Given the description of an element on the screen output the (x, y) to click on. 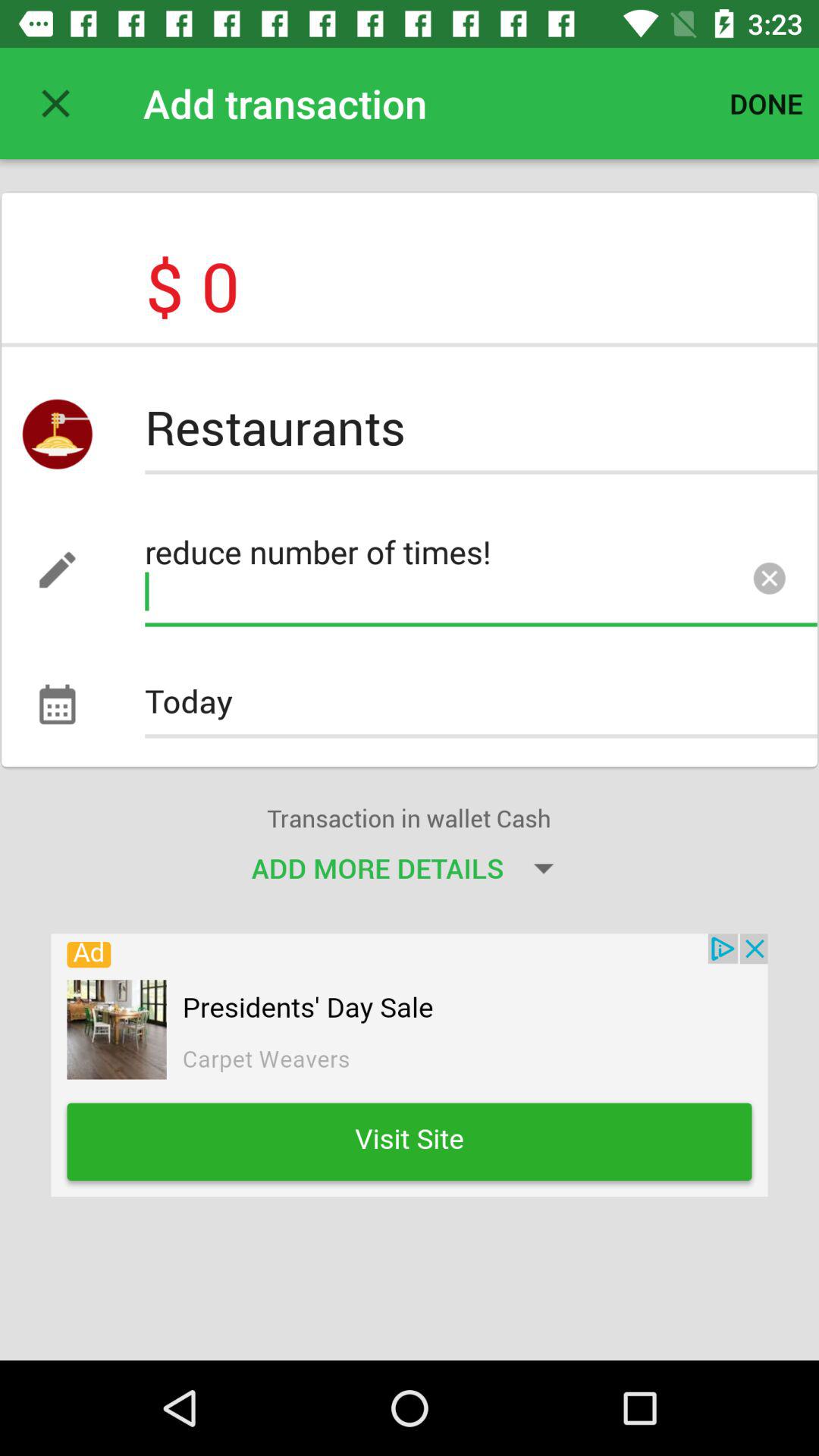
carpet weaver advertisement (409, 1064)
